Given the description of an element on the screen output the (x, y) to click on. 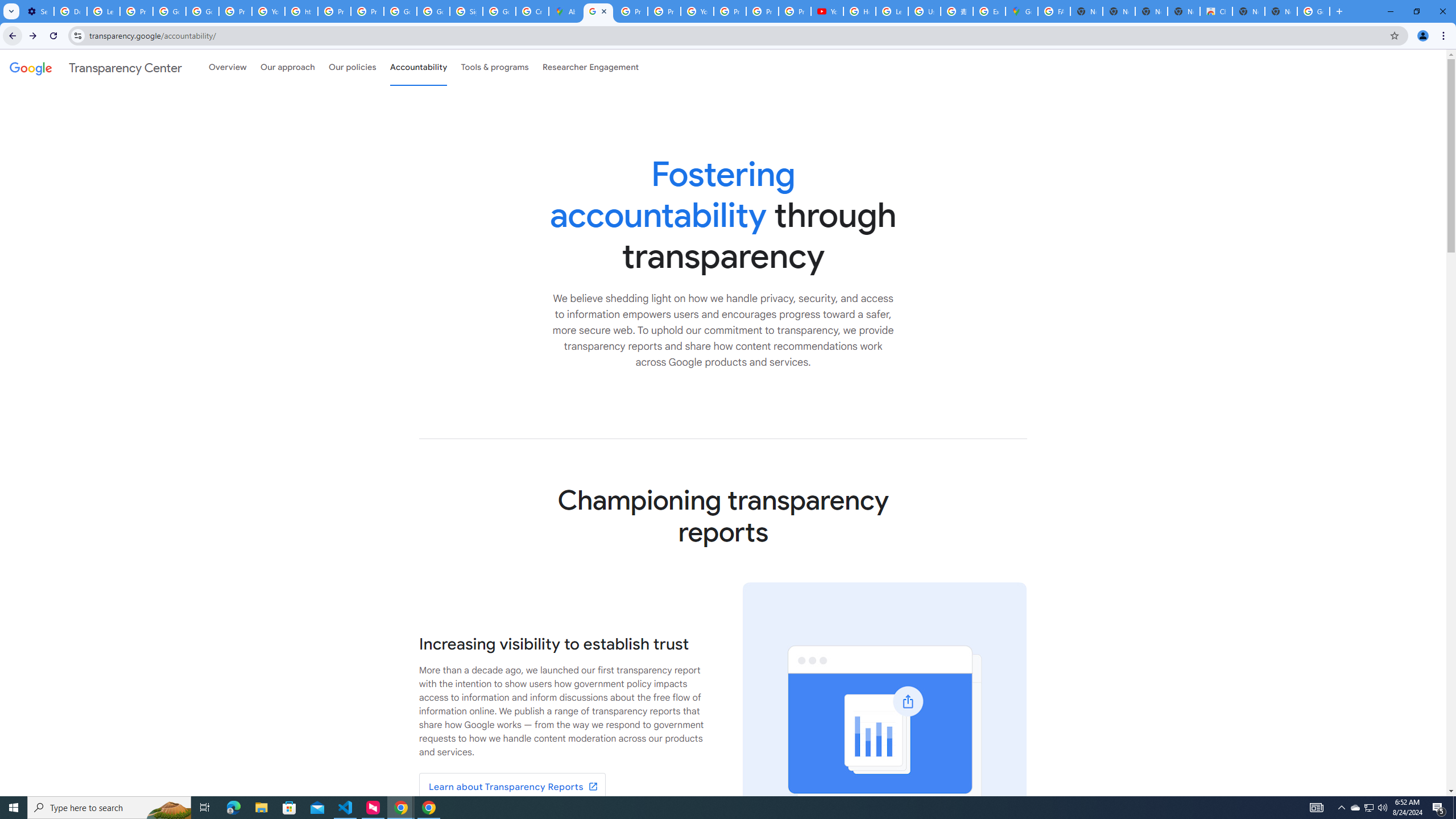
https://scholar.google.com/ (301, 11)
Chrome Web Store (1216, 11)
Our approach (287, 67)
Policy Accountability and Transparency - Transparency Center (598, 11)
Privacy Help Center - Policies Help (334, 11)
Transparency Center (95, 67)
